Given the description of an element on the screen output the (x, y) to click on. 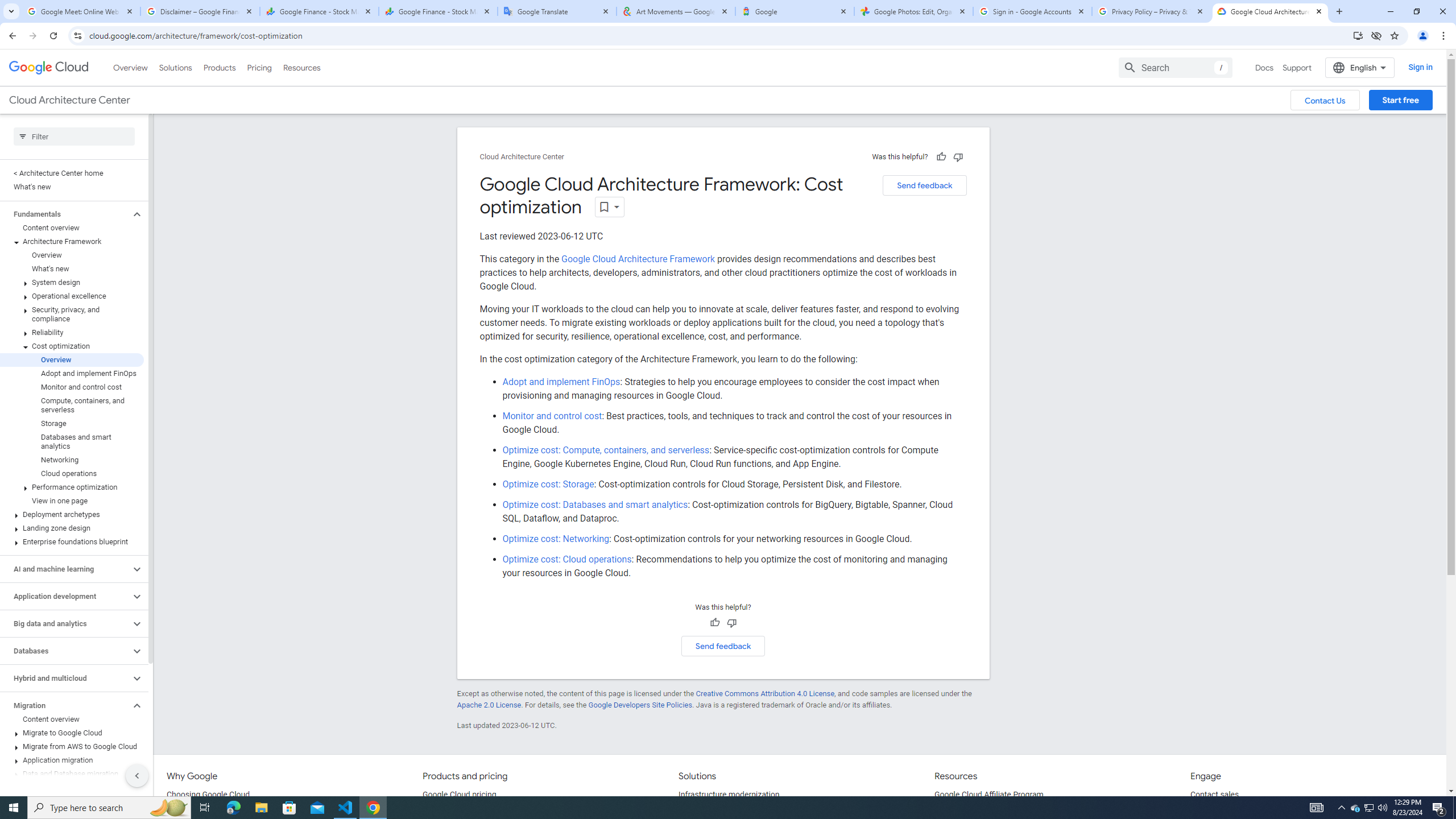
Google Cloud Architecture Framework (638, 258)
Send feedback (723, 645)
Databases and smart analytics (72, 441)
Big data and analytics (64, 623)
English (1359, 67)
Optimize cost: Databases and smart analytics (595, 504)
Monitoring and logging (64, 801)
Install Google Cloud (1358, 35)
Monitor and control cost (552, 415)
